Given the description of an element on the screen output the (x, y) to click on. 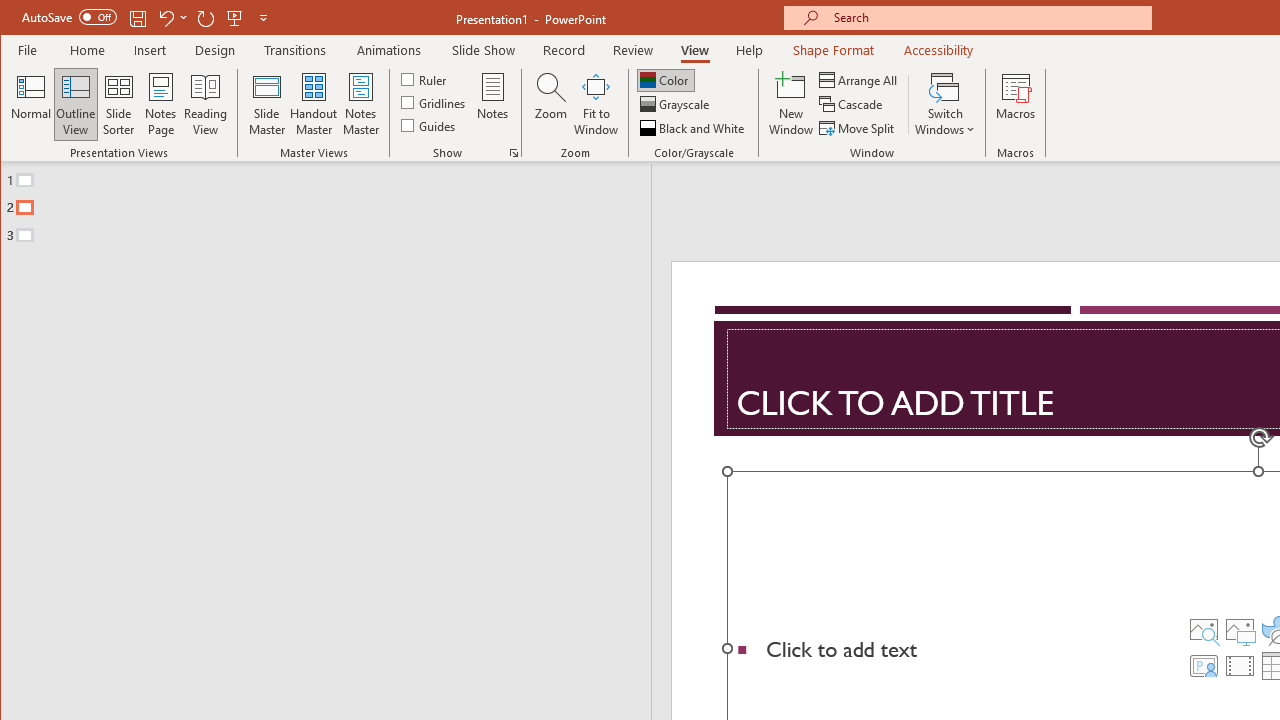
Zoom... (550, 104)
Color (666, 80)
Guides (430, 124)
